Given the description of an element on the screen output the (x, y) to click on. 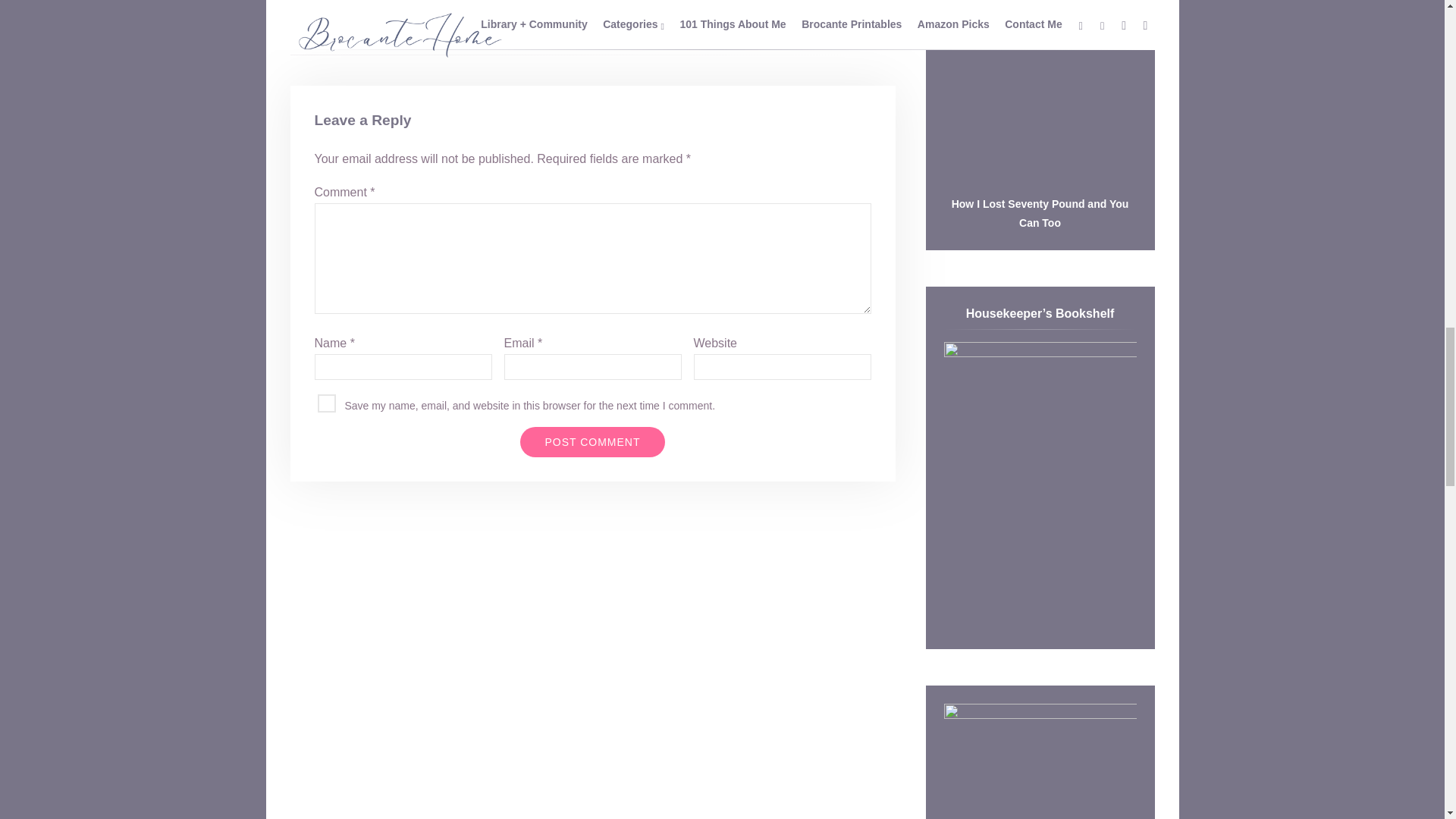
yes (325, 402)
Post Comment (591, 441)
